Given the description of an element on the screen output the (x, y) to click on. 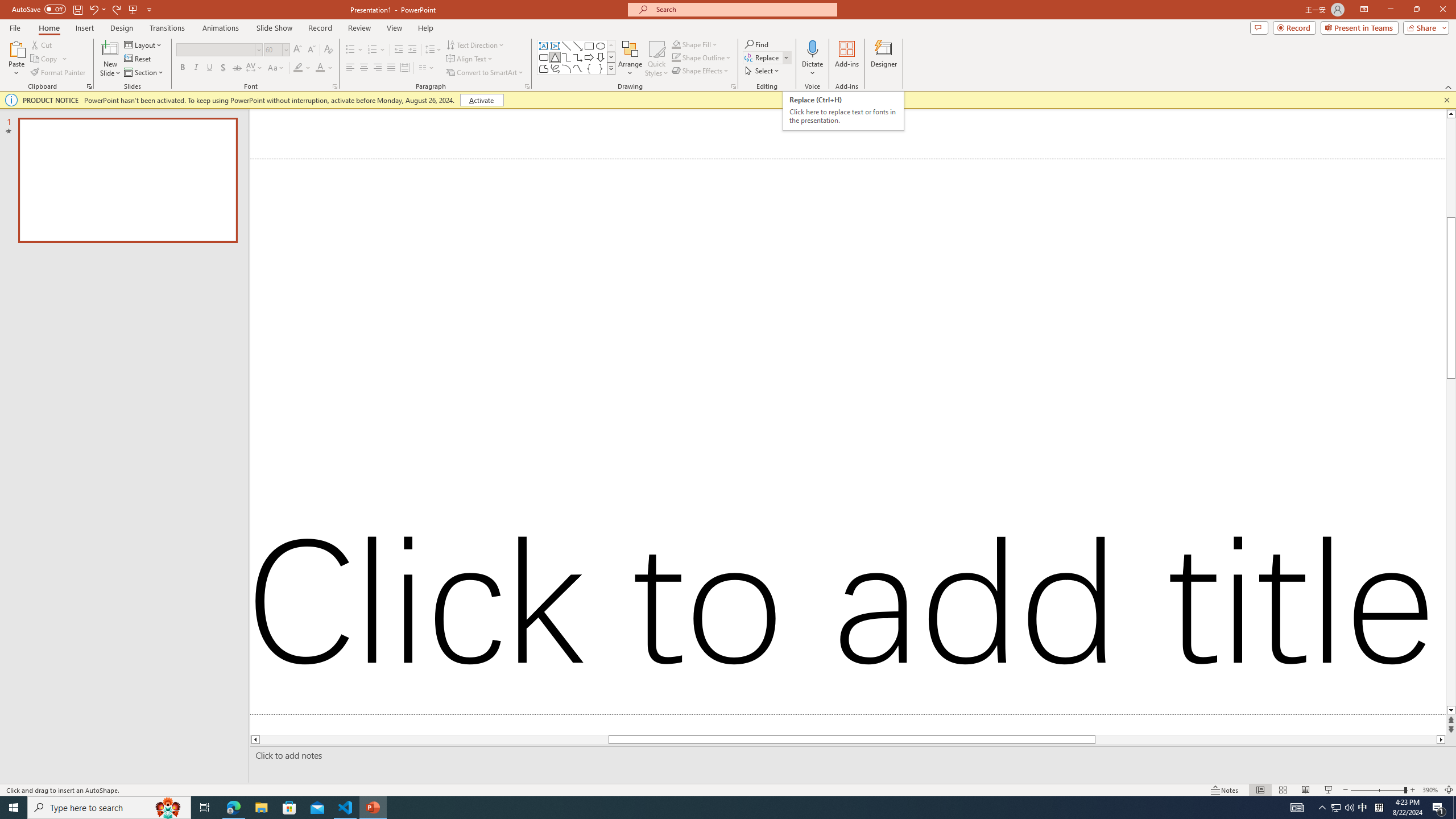
Activate (481, 100)
